Given the description of an element on the screen output the (x, y) to click on. 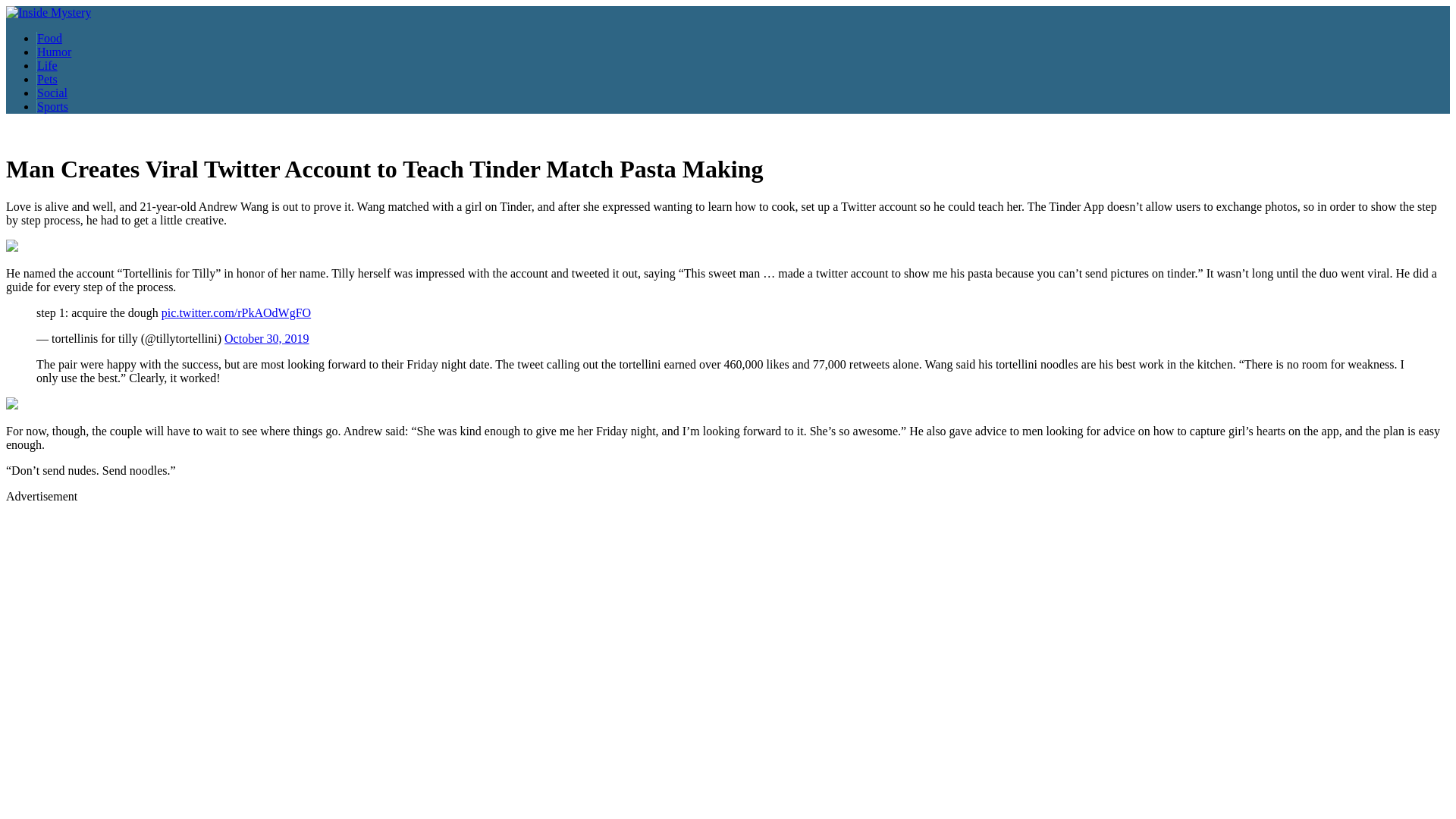
Pets (47, 78)
Life (47, 65)
Humor (53, 51)
Social (51, 92)
Sports (52, 106)
October 30, 2019 (266, 338)
Food (49, 38)
